Given the description of an element on the screen output the (x, y) to click on. 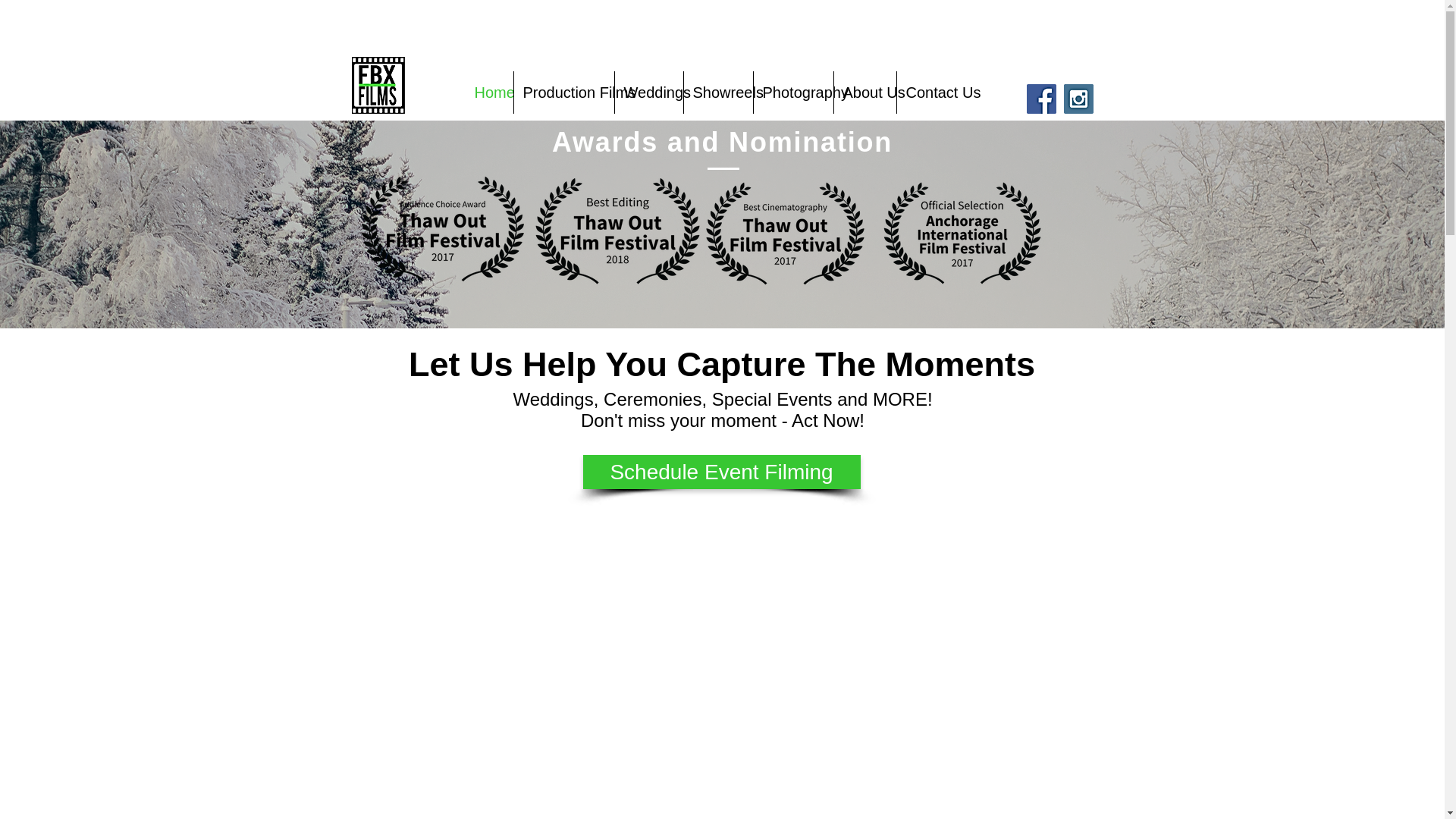
Production Films (563, 92)
About Us (865, 92)
Contact Us (930, 92)
Photography (793, 92)
Showreels (718, 92)
Weddings (648, 92)
Schedule Event Filming (721, 471)
Home (489, 92)
